Given the description of an element on the screen output the (x, y) to click on. 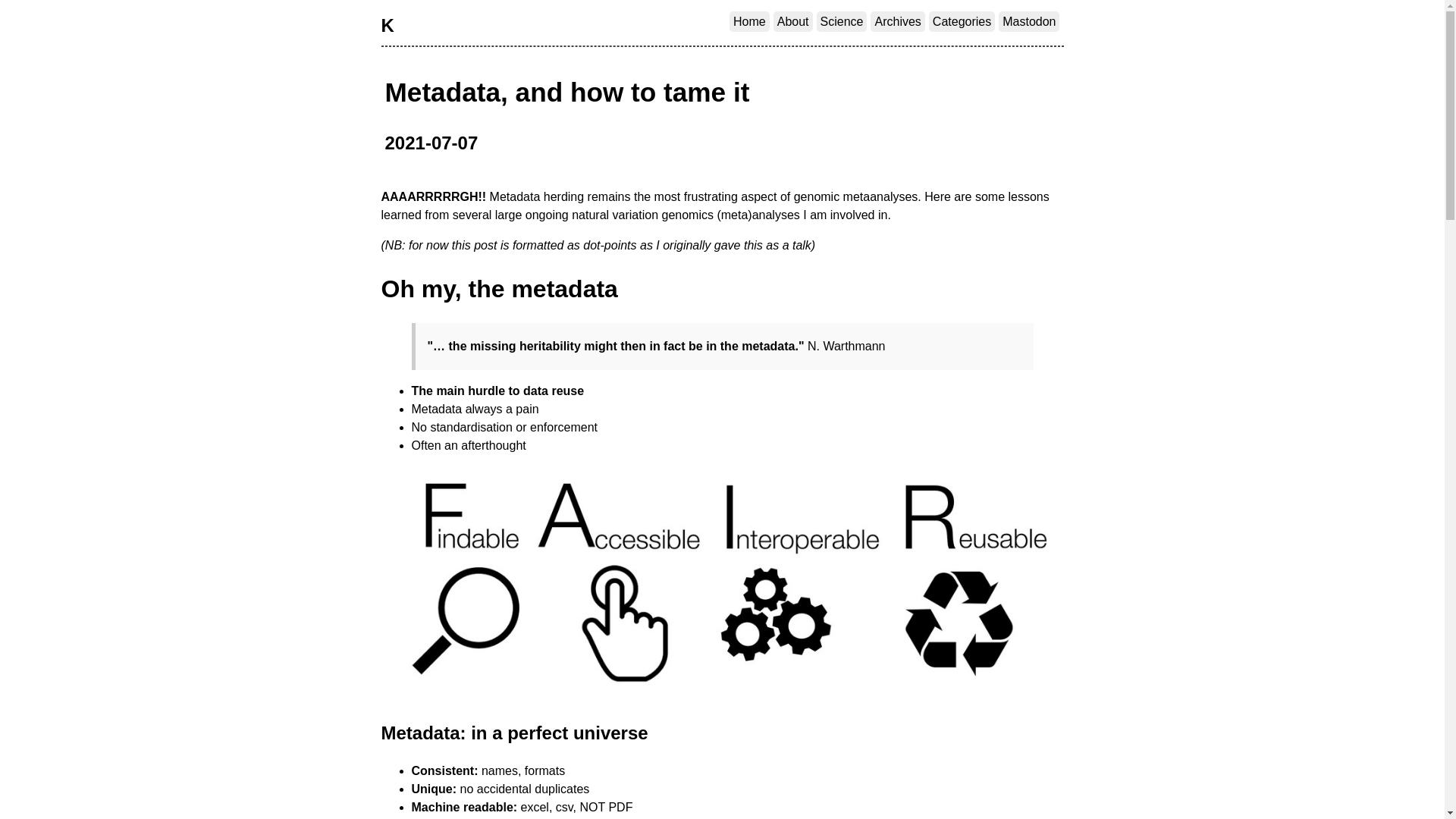
Mastodon Element type: text (1028, 21)
Home Element type: text (749, 21)
K Element type: text (386, 25)
Science Element type: text (841, 21)
About Element type: text (792, 21)
Categories Element type: text (961, 21)
Archives Element type: text (897, 21)
